Given the description of an element on the screen output the (x, y) to click on. 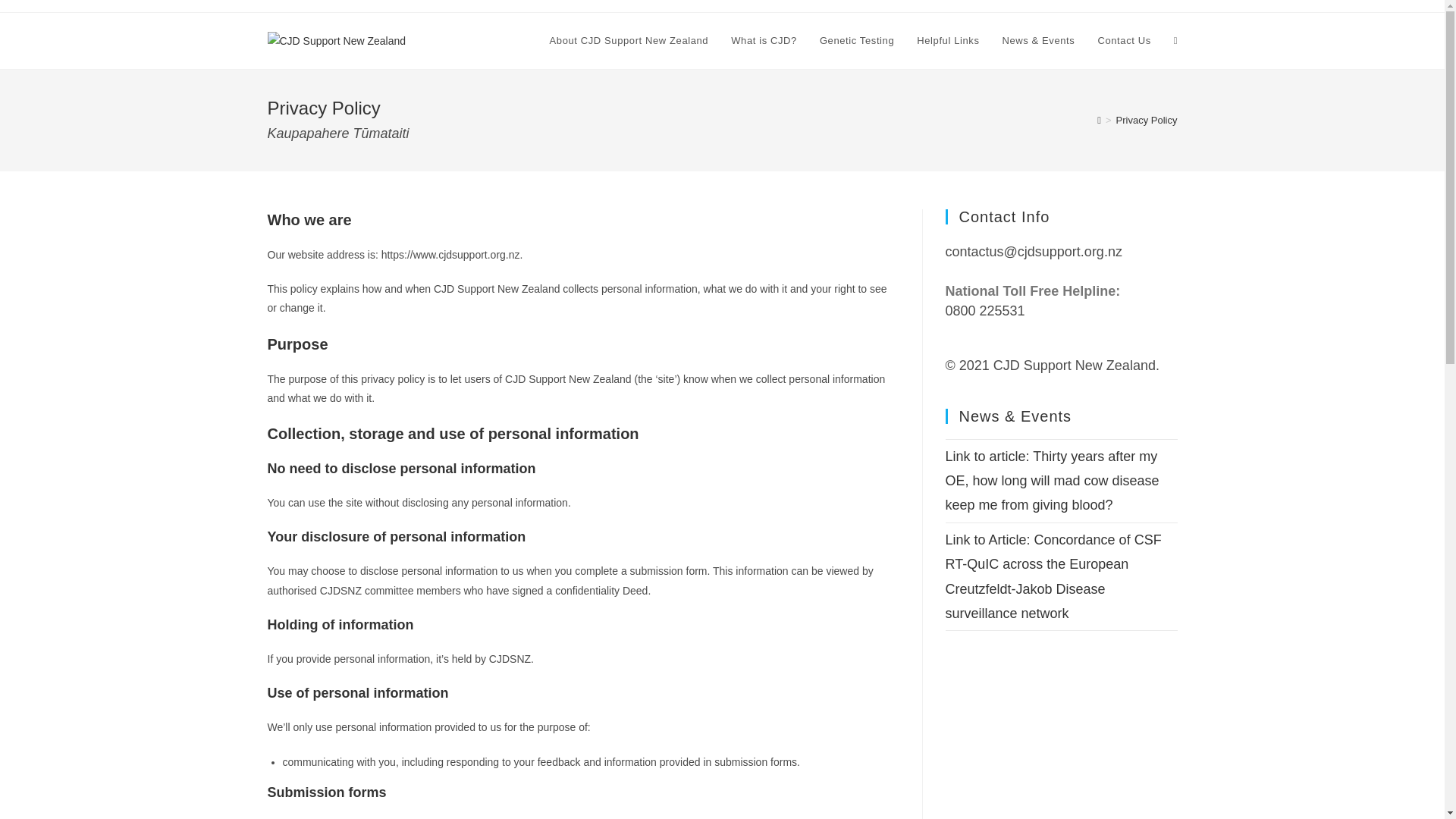
Contact Us (1123, 40)
Helpful Links (947, 40)
Genetic Testing (856, 40)
About CJD Support New Zealand (629, 40)
Privacy Policy (1146, 120)
What is CJD? (763, 40)
